Given the description of an element on the screen output the (x, y) to click on. 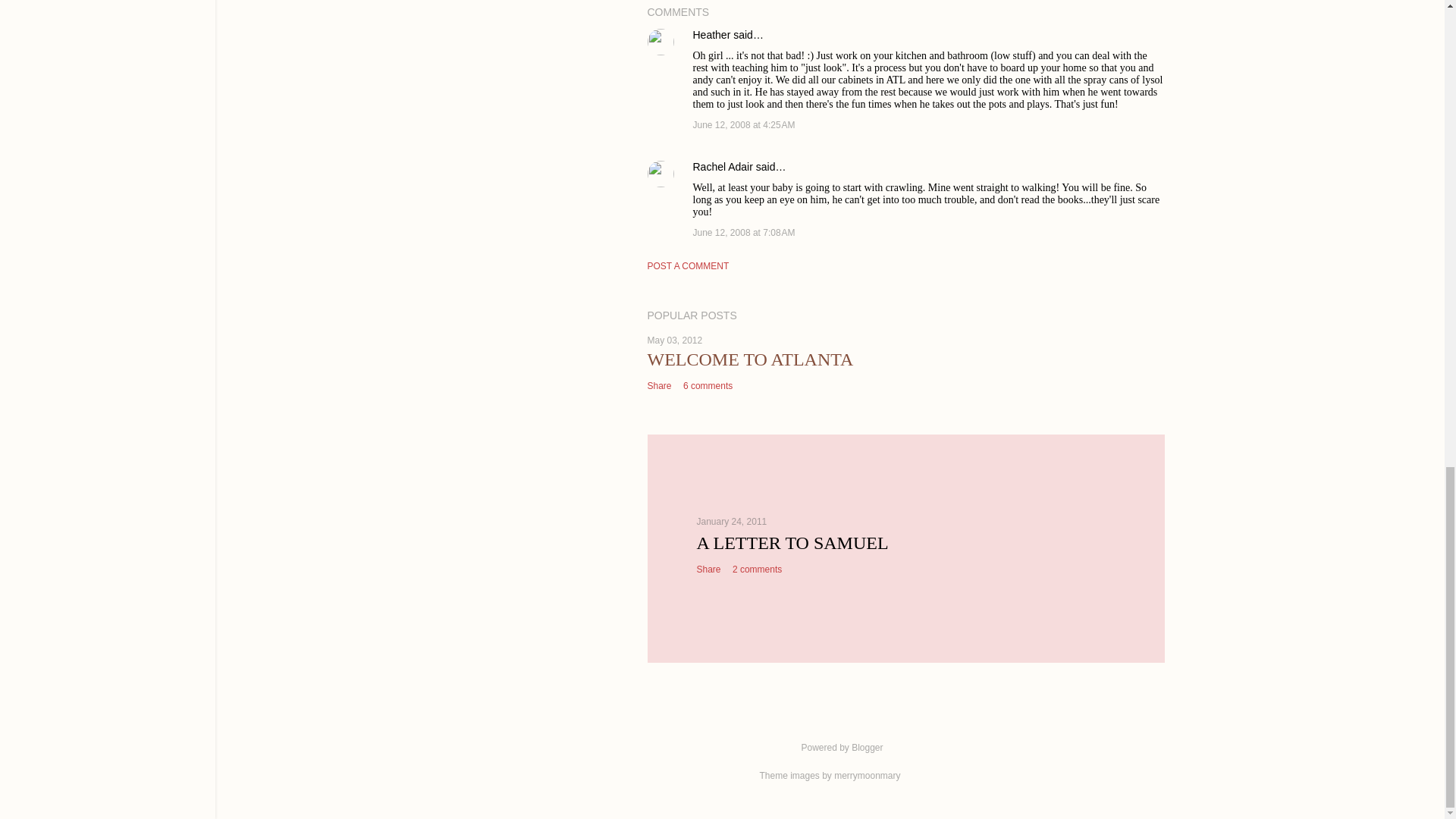
January 24, 2011 (731, 521)
merrymoonmary (866, 775)
A LETTER TO SAMUEL (791, 542)
WELCOME TO ATLANTA (750, 359)
6 comments (707, 385)
Heather (711, 34)
May 03, 2012 (675, 339)
POST A COMMENT (688, 266)
Share (659, 385)
